Given the description of an element on the screen output the (x, y) to click on. 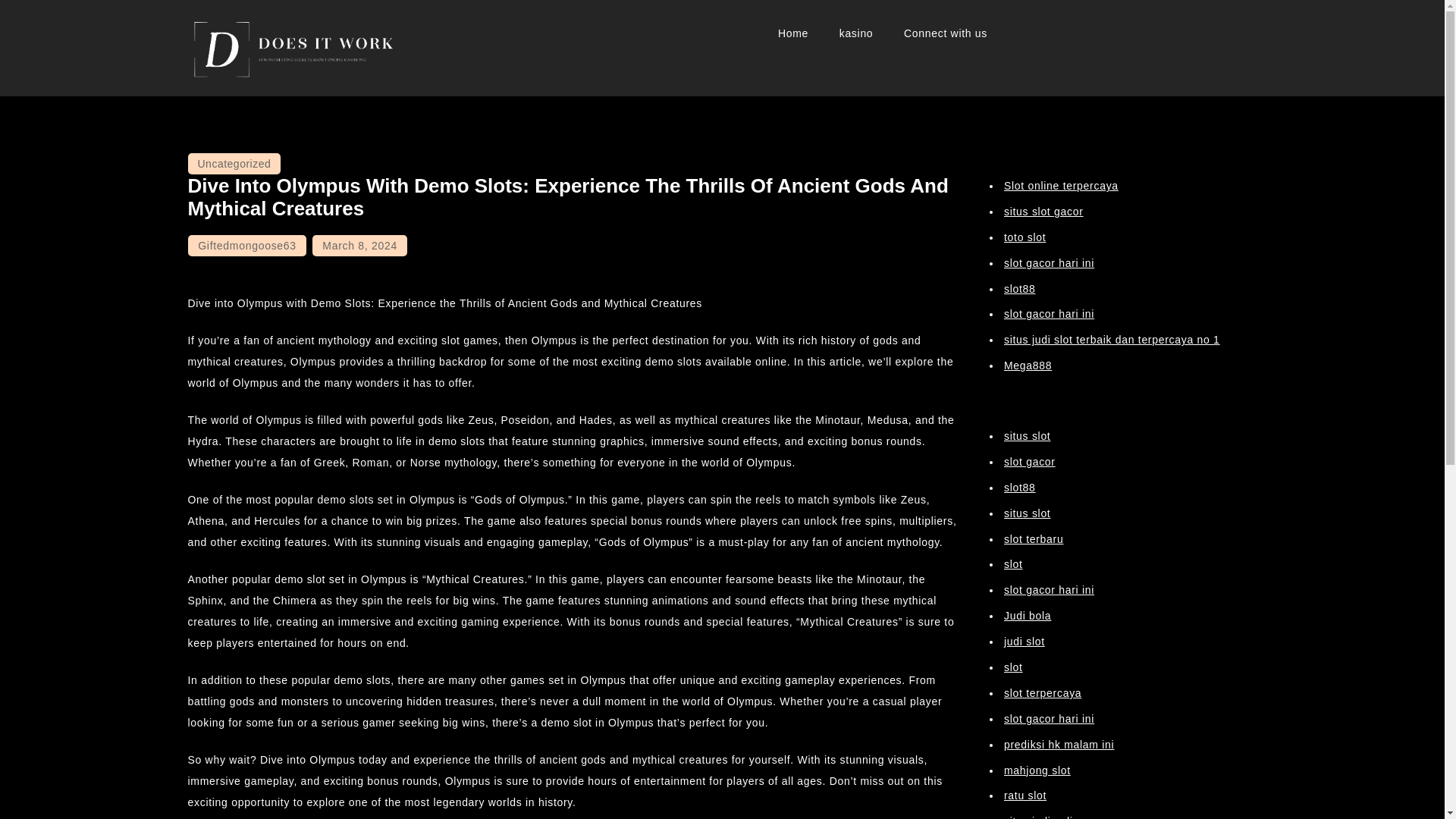
slot gacor hari ini (1049, 589)
kasino (855, 33)
slot gacor hari ini (1049, 718)
judi slot (1024, 641)
Giftedmongoose63 (246, 245)
slot88 (1019, 288)
situs slot (1026, 435)
situs slot (1026, 512)
Judi bola (1027, 615)
prediksi hk malam ini (1058, 744)
March 8, 2024 (360, 245)
slot terbaru (1033, 538)
situs judi slot terbaik dan terpercaya no 1 (1112, 339)
slot (1013, 666)
slot terpercaya (1042, 693)
